Given the description of an element on the screen output the (x, y) to click on. 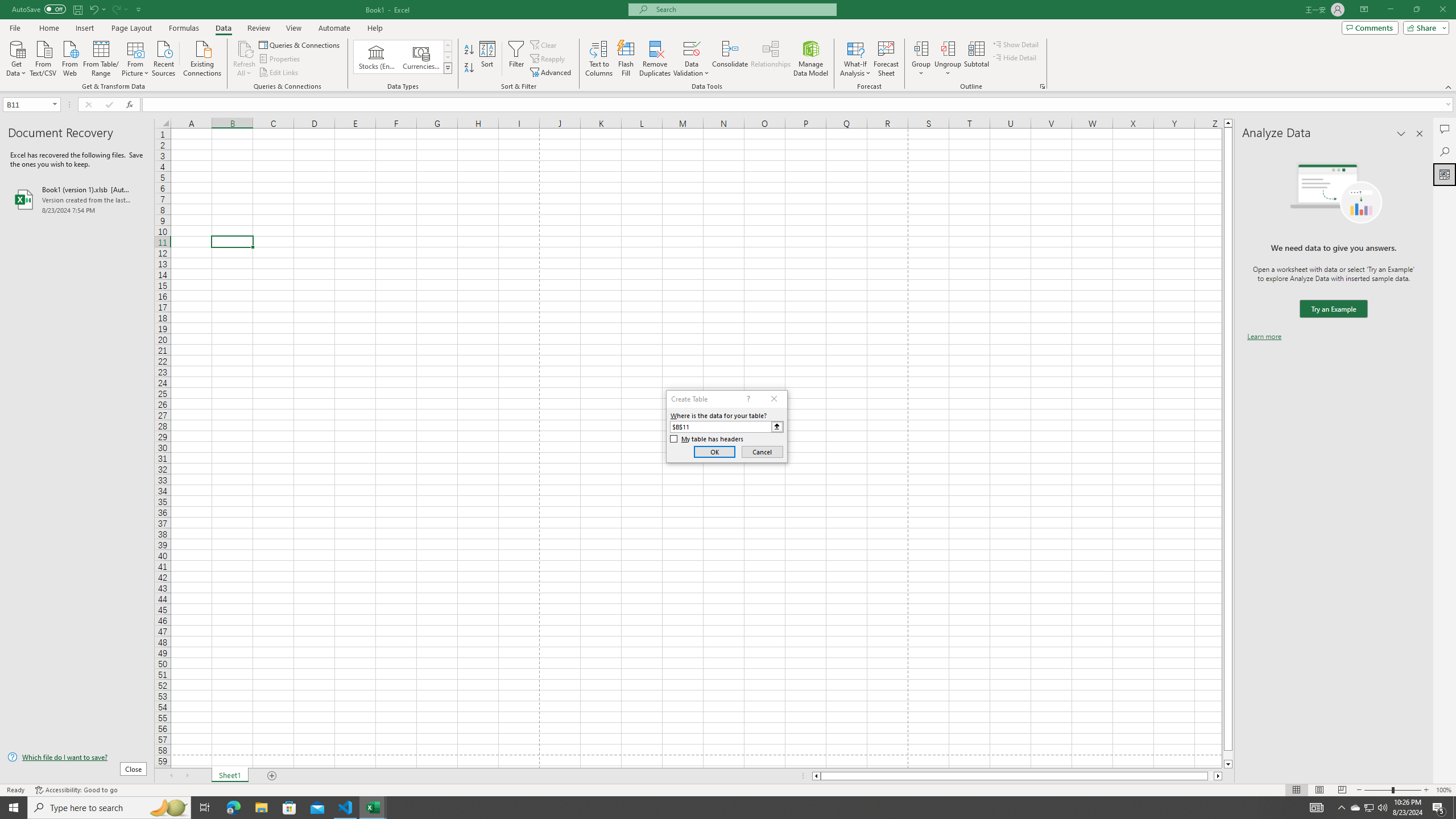
Stocks (English) (375, 56)
Forecast Sheet (885, 58)
